Given the description of an element on the screen output the (x, y) to click on. 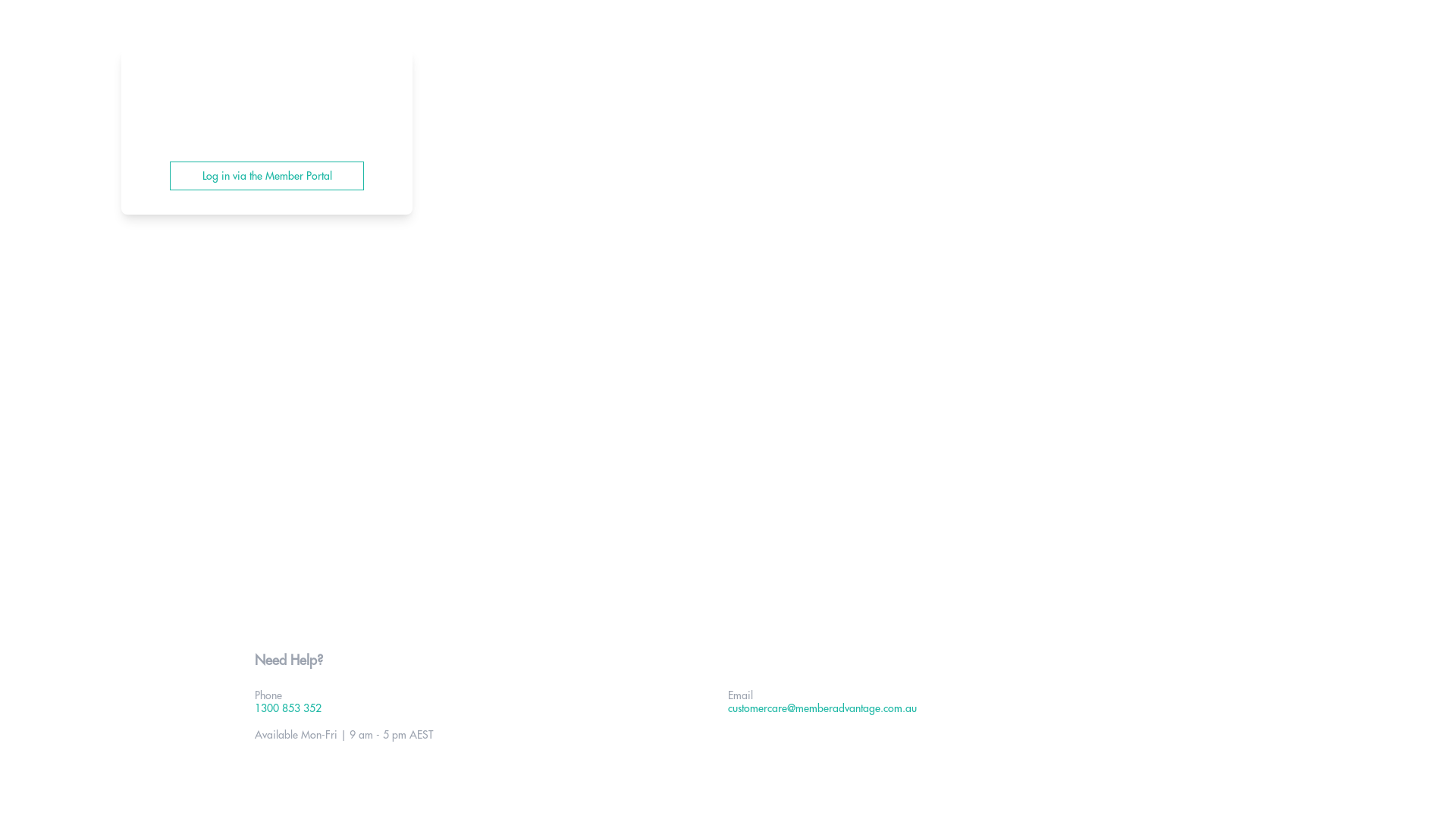
Log in via the Member Portal Element type: text (266, 175)
